Given the description of an element on the screen output the (x, y) to click on. 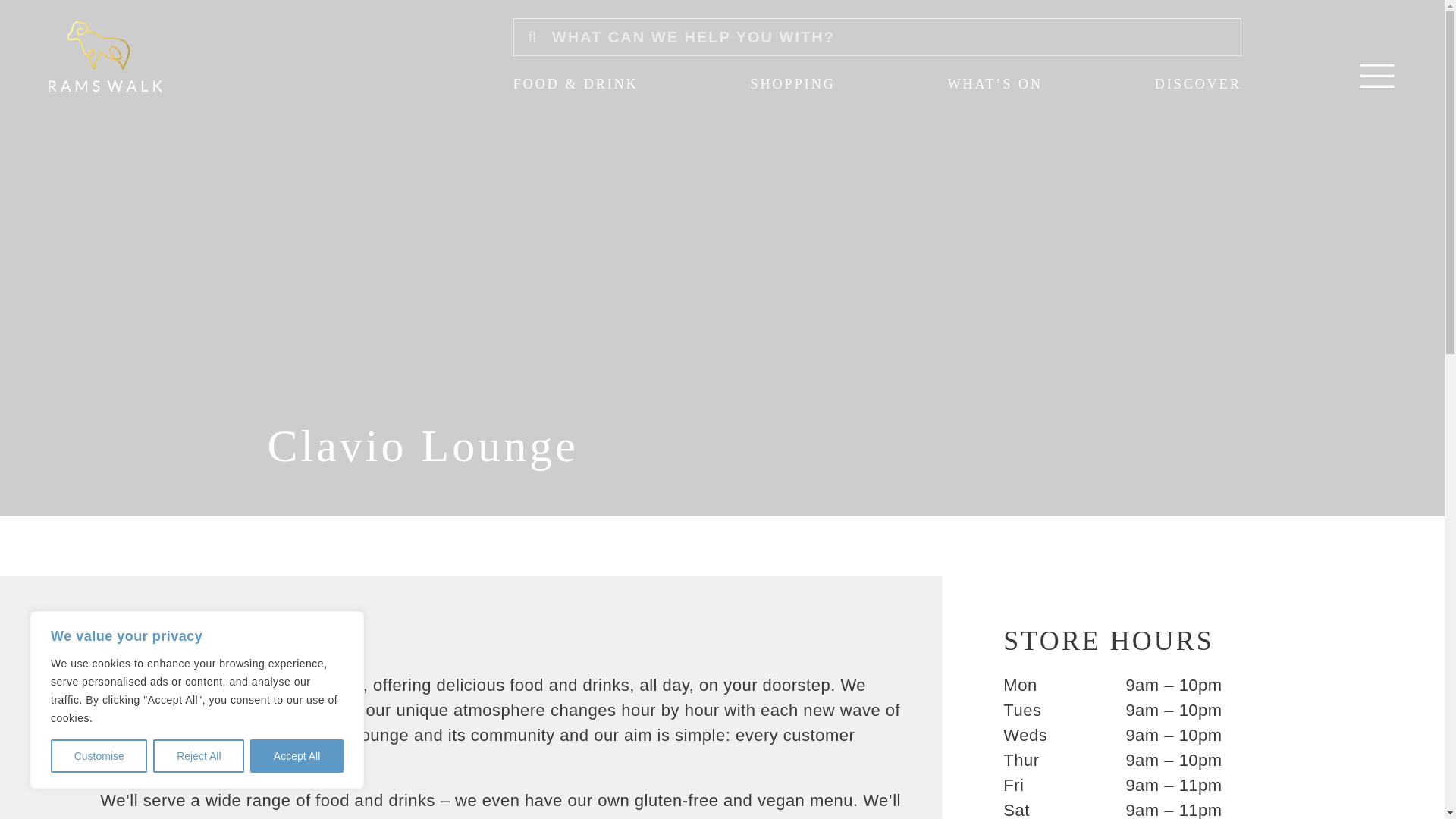
Customise (98, 756)
SHOPPING (793, 84)
Reject All (198, 756)
DISCOVER (1197, 84)
Accept All (296, 756)
